Given the description of an element on the screen output the (x, y) to click on. 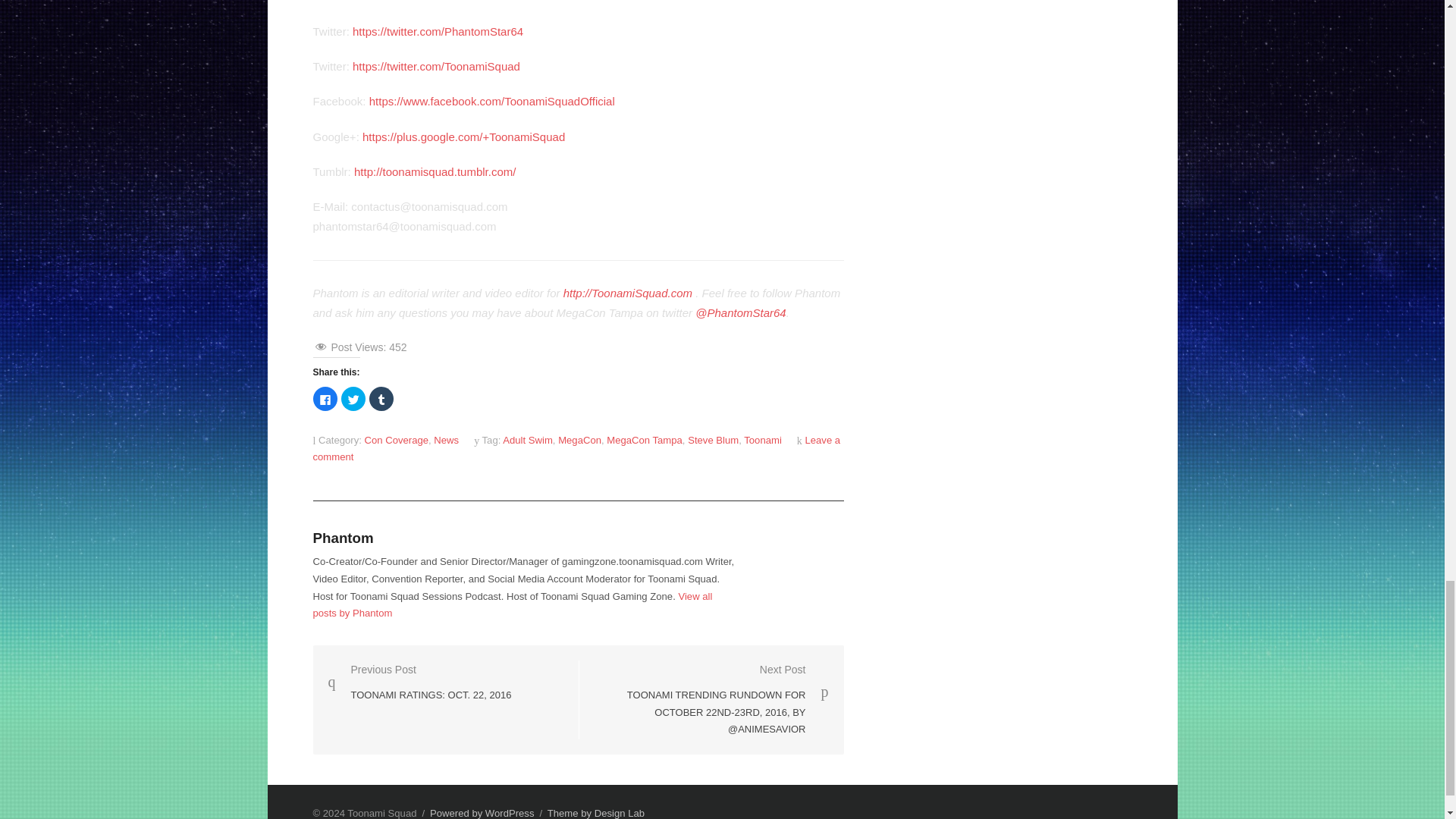
Click to share on Twitter (352, 398)
Click to share on Facebook (324, 398)
Click to share on Tumblr (380, 398)
